Given the description of an element on the screen output the (x, y) to click on. 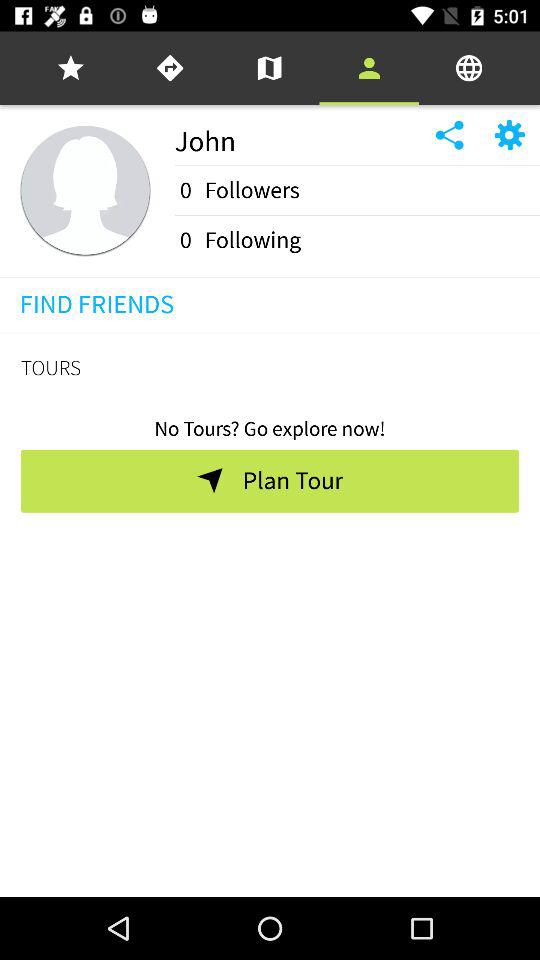
tap the following (252, 240)
